Given the description of an element on the screen output the (x, y) to click on. 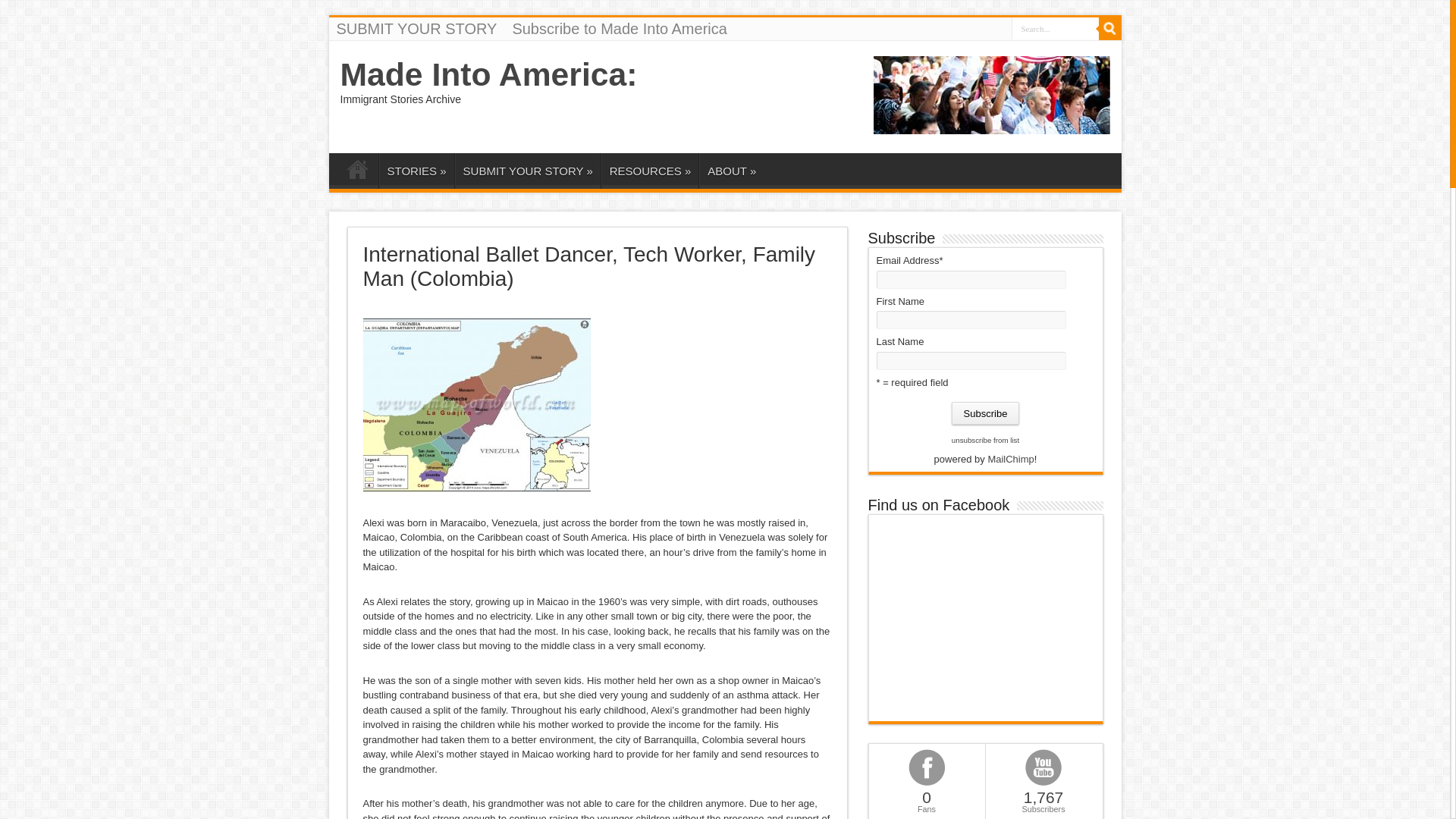
Subscribe to Made Into America (618, 28)
Subscribe (986, 413)
Search (1109, 28)
Search... (1055, 28)
Home (357, 172)
Search (1109, 28)
Search (1109, 28)
SUBMIT YOUR STORY (417, 28)
Made Into America: (488, 74)
